Given the description of an element on the screen output the (x, y) to click on. 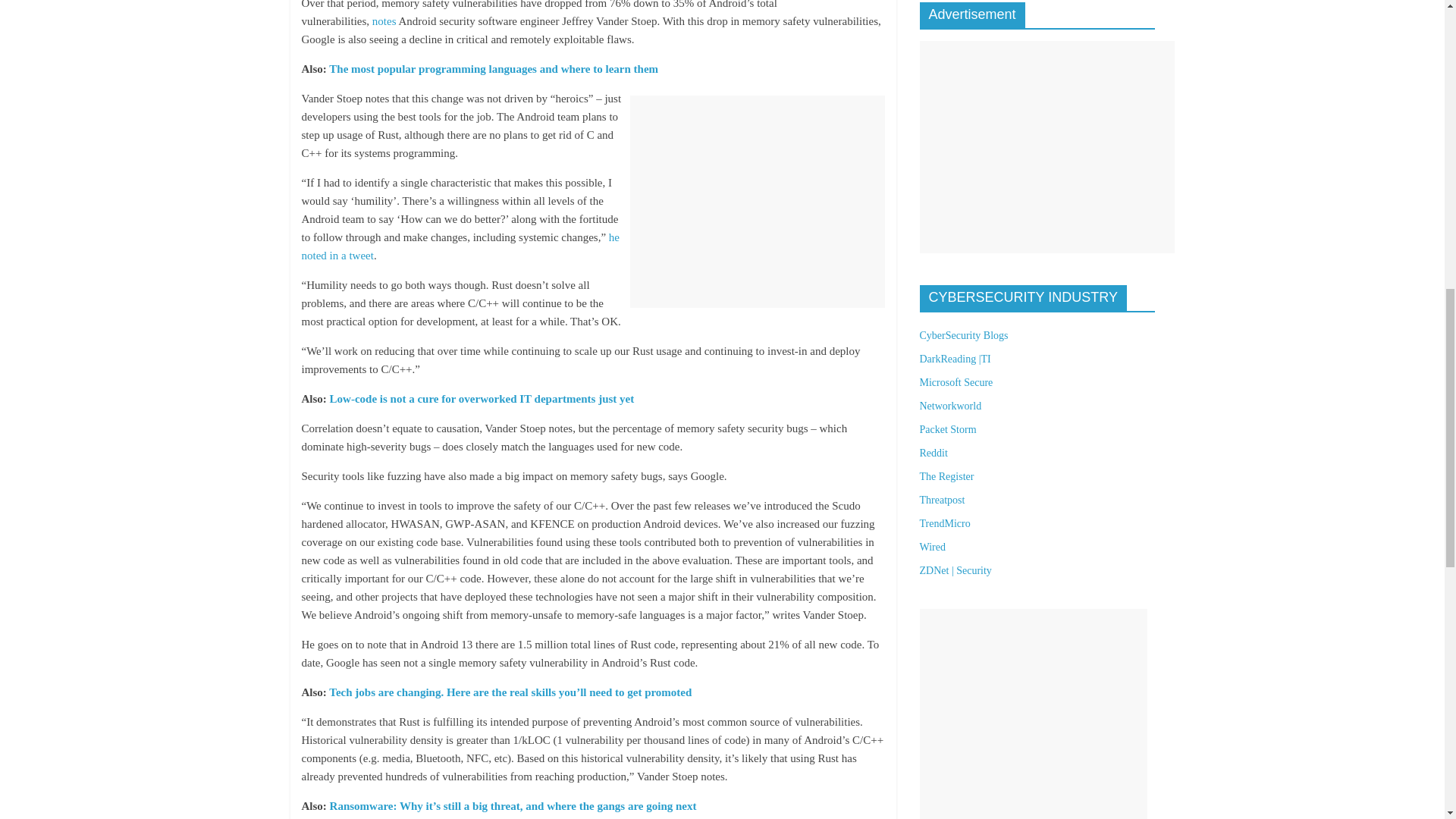
notes (384, 21)
he noted in a tweet (460, 245)
